Given the description of an element on the screen output the (x, y) to click on. 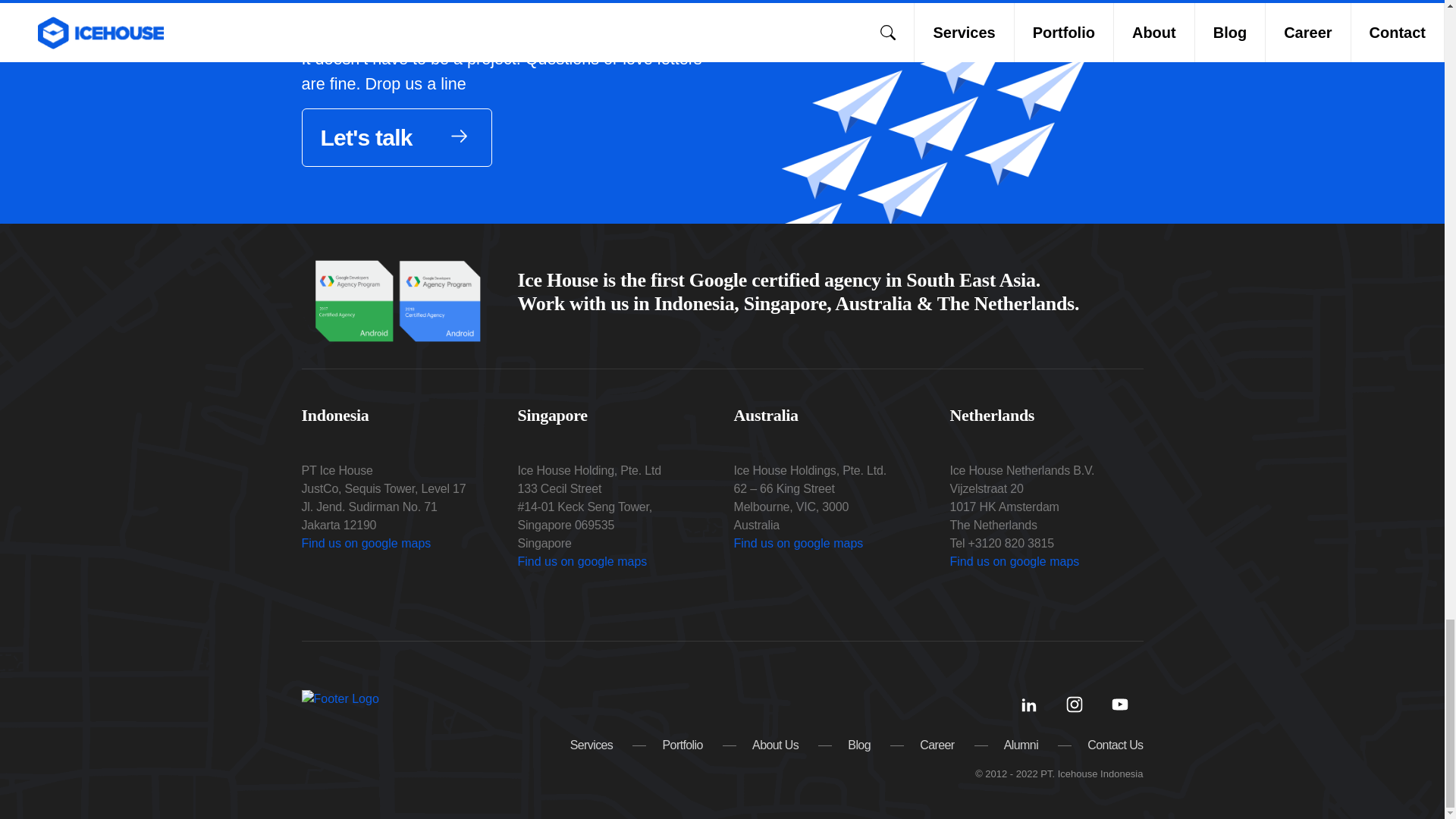
Find us on google maps (365, 543)
Let's talk (396, 137)
Find us on google maps (581, 561)
Find us on google maps (798, 543)
Services (591, 744)
Find us on google maps (1013, 561)
